Given the description of an element on the screen output the (x, y) to click on. 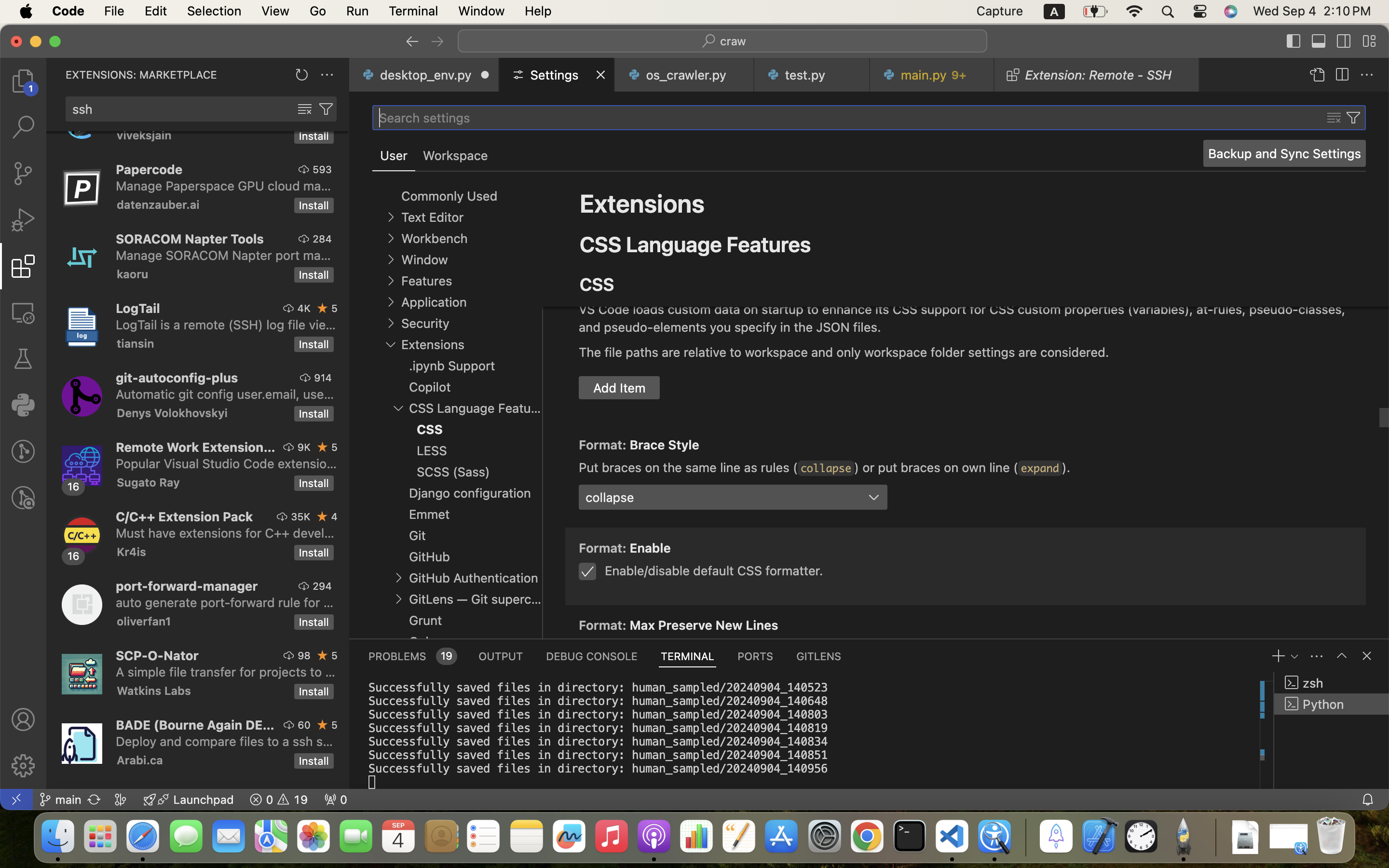
593 Element type: AXStaticText (321, 168)
1 Element type: AXRadioButton (393, 155)
 Element type: AXStaticText (322, 516)
Format: Element type: AXStaticText (603, 444)
EXTENSIONS: MARKETPLACE Element type: AXStaticText (141, 74)
